Given the description of an element on the screen output the (x, y) to click on. 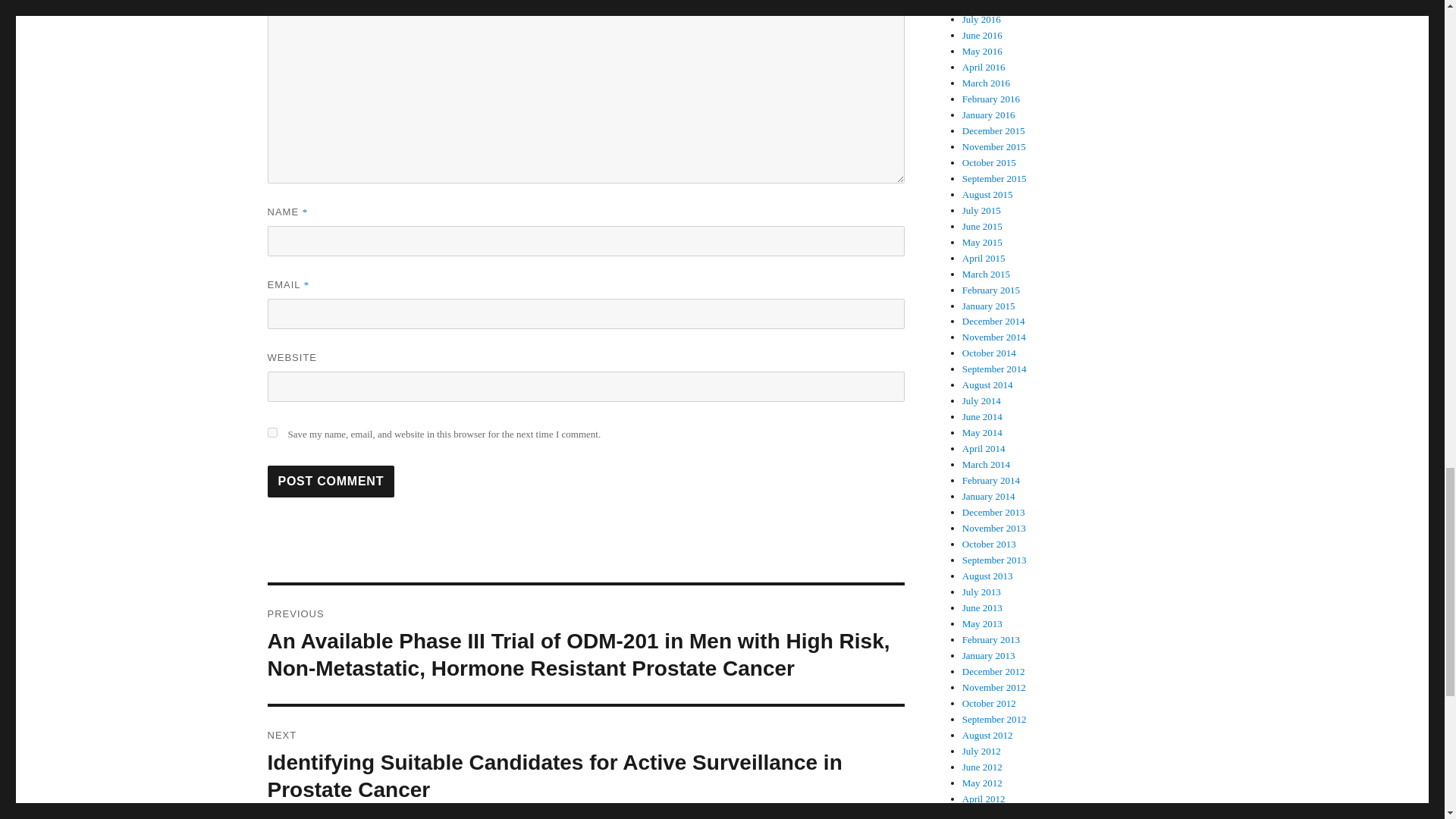
yes (271, 432)
Post Comment (330, 481)
Post Comment (330, 481)
